Given the description of an element on the screen output the (x, y) to click on. 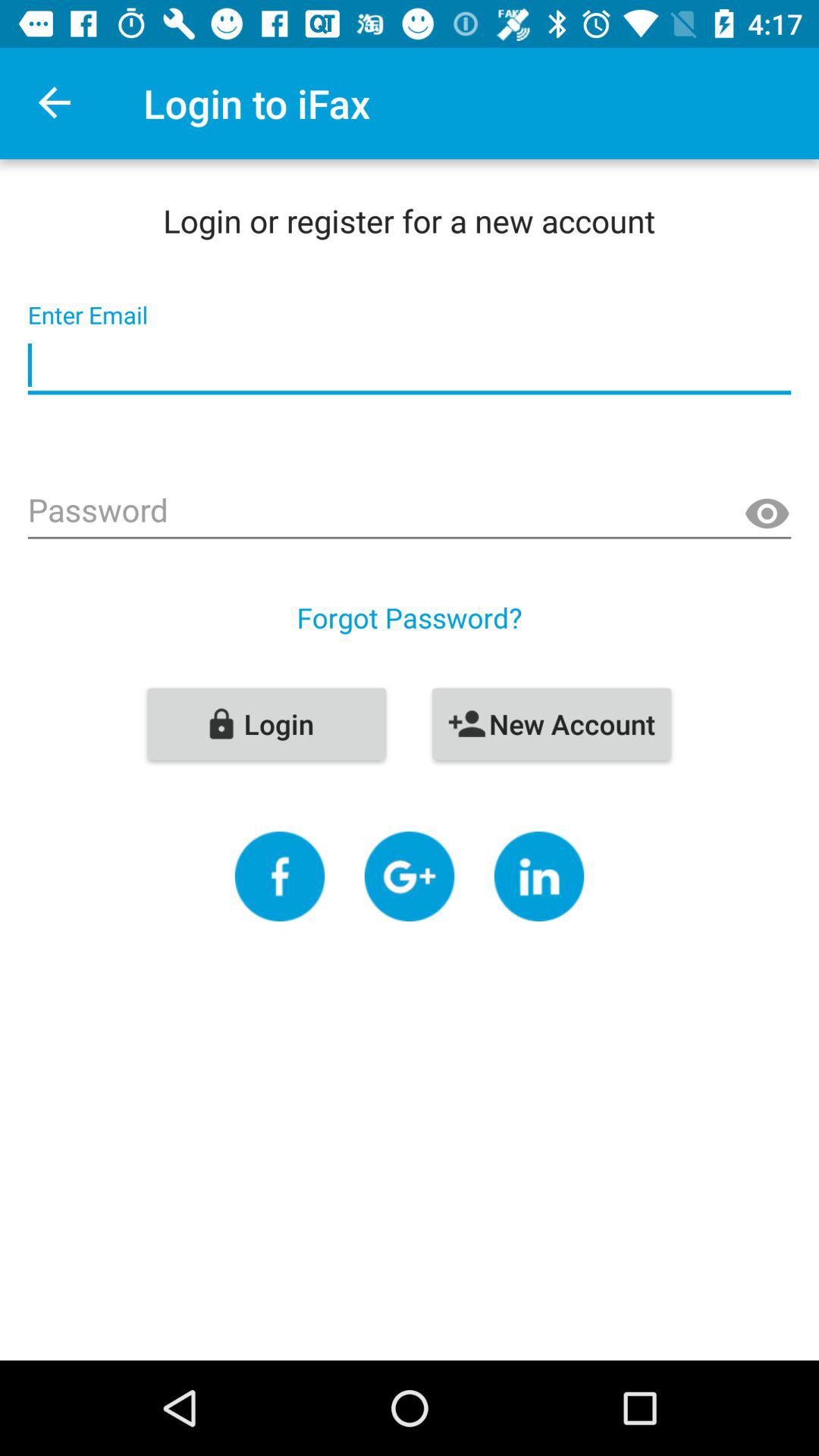
go to serching option (409, 876)
